Given the description of an element on the screen output the (x, y) to click on. 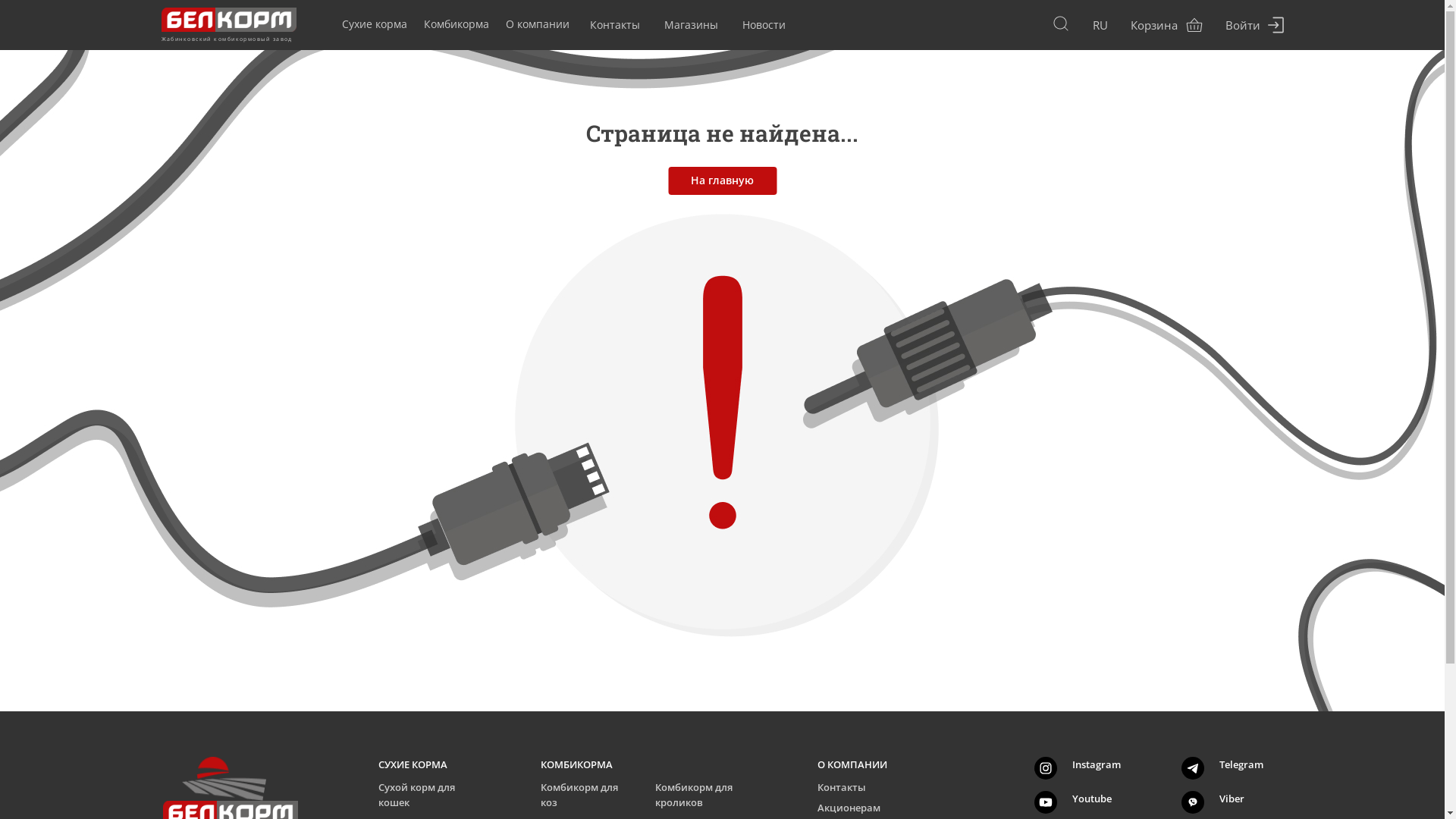
RU Element type: text (1099, 24)
